Given the description of an element on the screen output the (x, y) to click on. 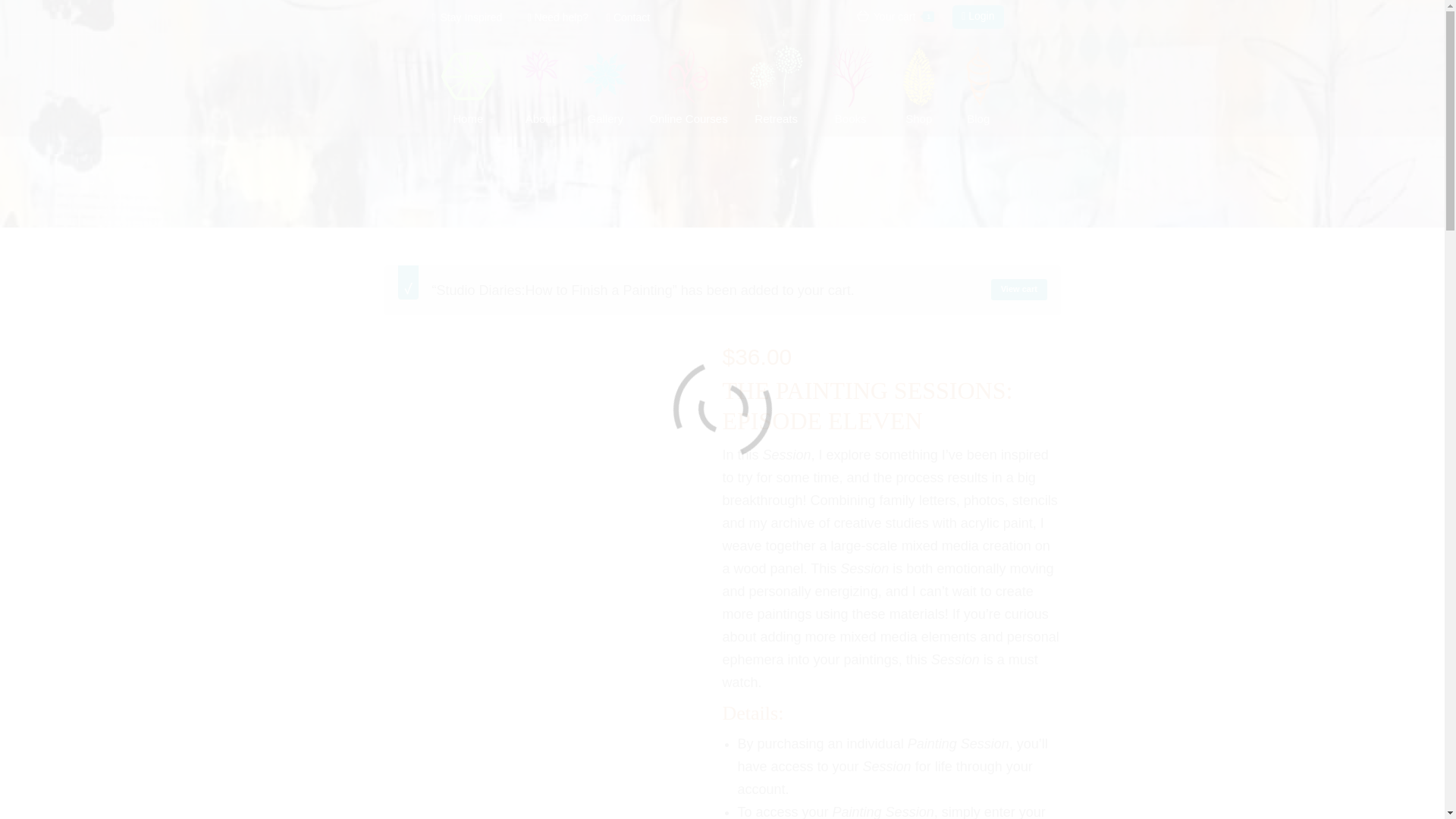
Contact (628, 16)
Go! (519, 20)
Stay Inspired (464, 16)
Need help? (559, 16)
View cart (1018, 289)
Your cart1 (895, 16)
Login (977, 16)
Go! (519, 20)
